Given the description of an element on the screen output the (x, y) to click on. 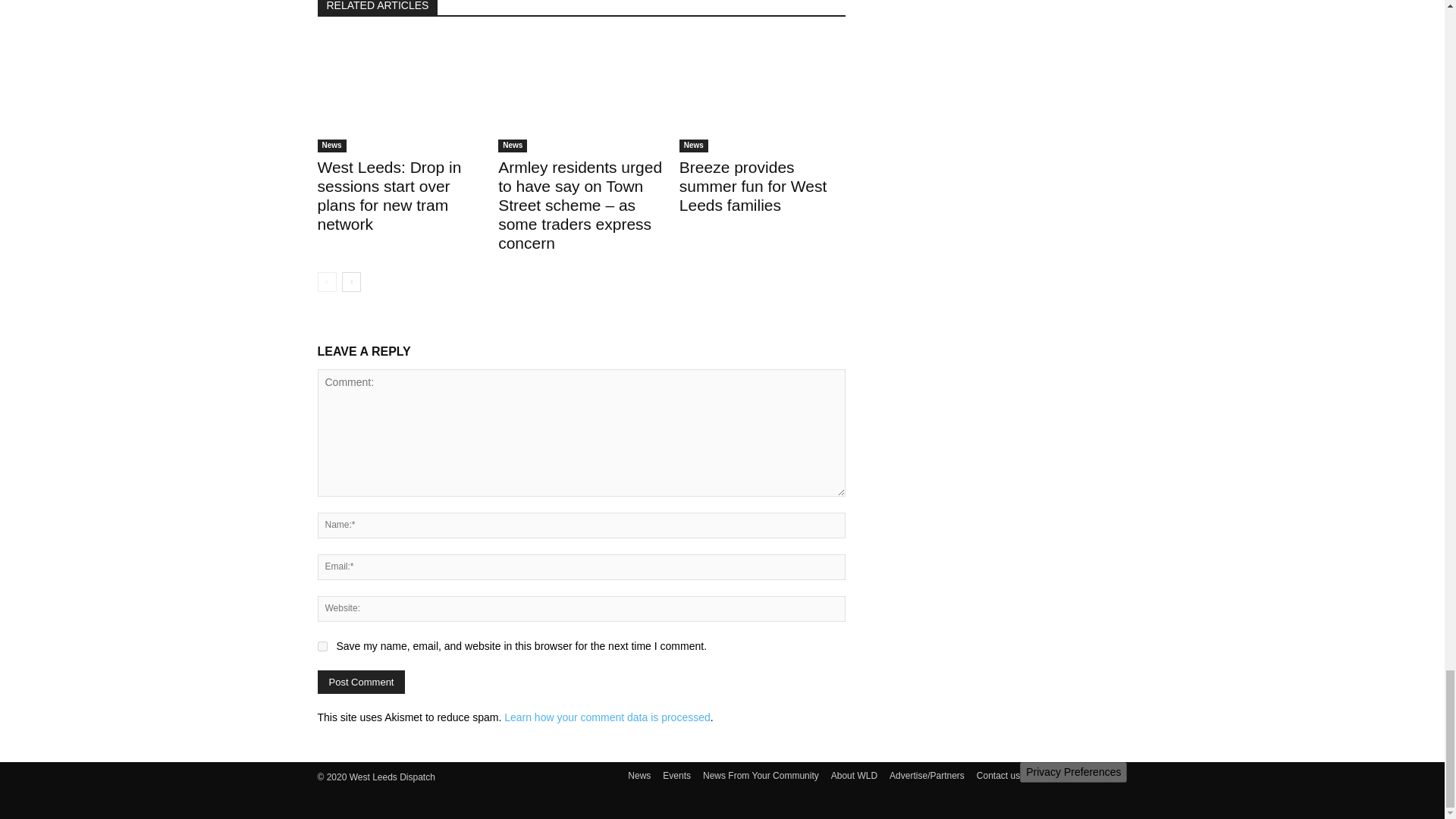
Post Comment (360, 681)
yes (321, 646)
